Given the description of an element on the screen output the (x, y) to click on. 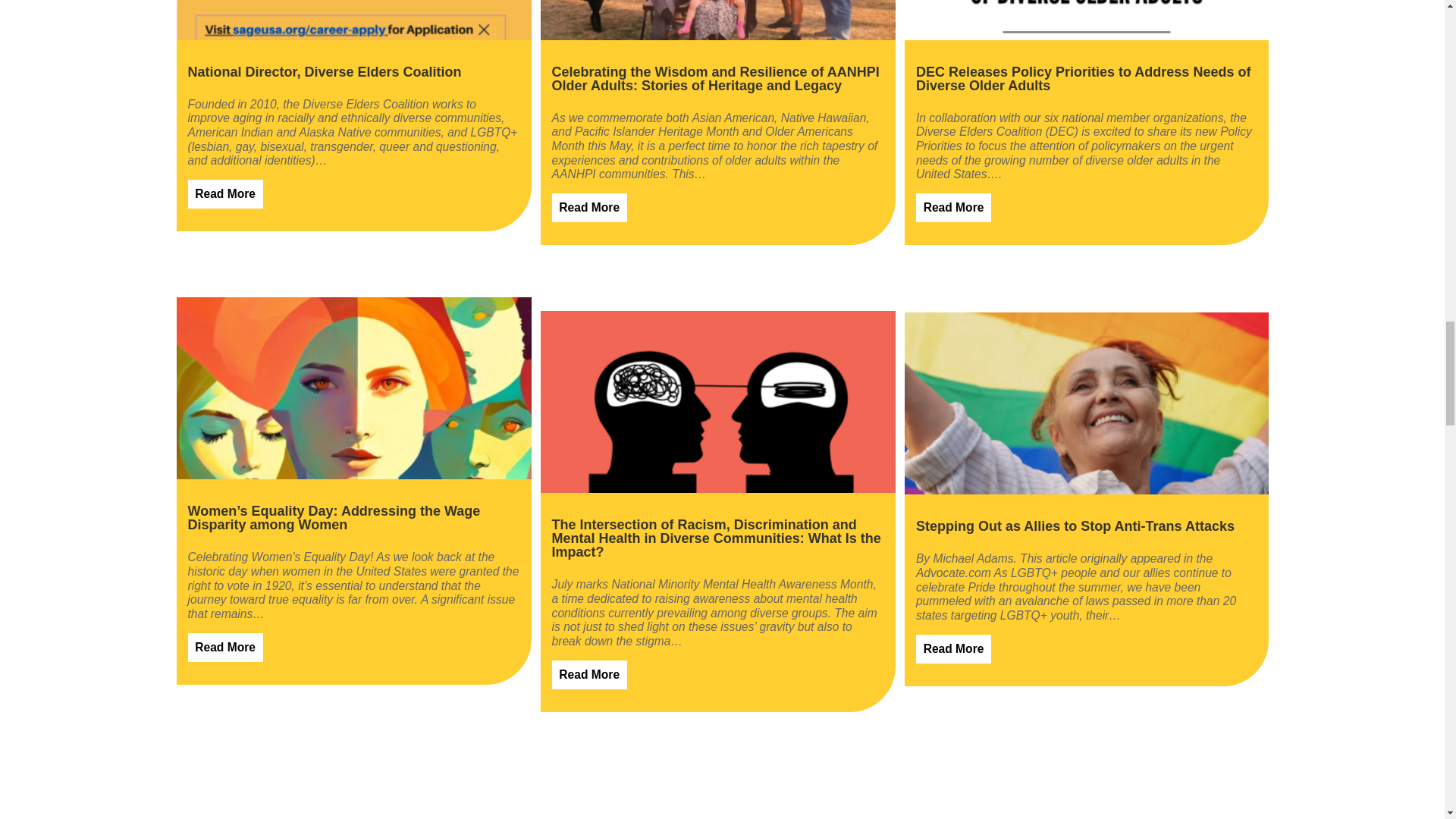
Read More (225, 647)
National Director, Diverse Elders Coalition (324, 78)
Read More (225, 193)
